Given the description of an element on the screen output the (x, y) to click on. 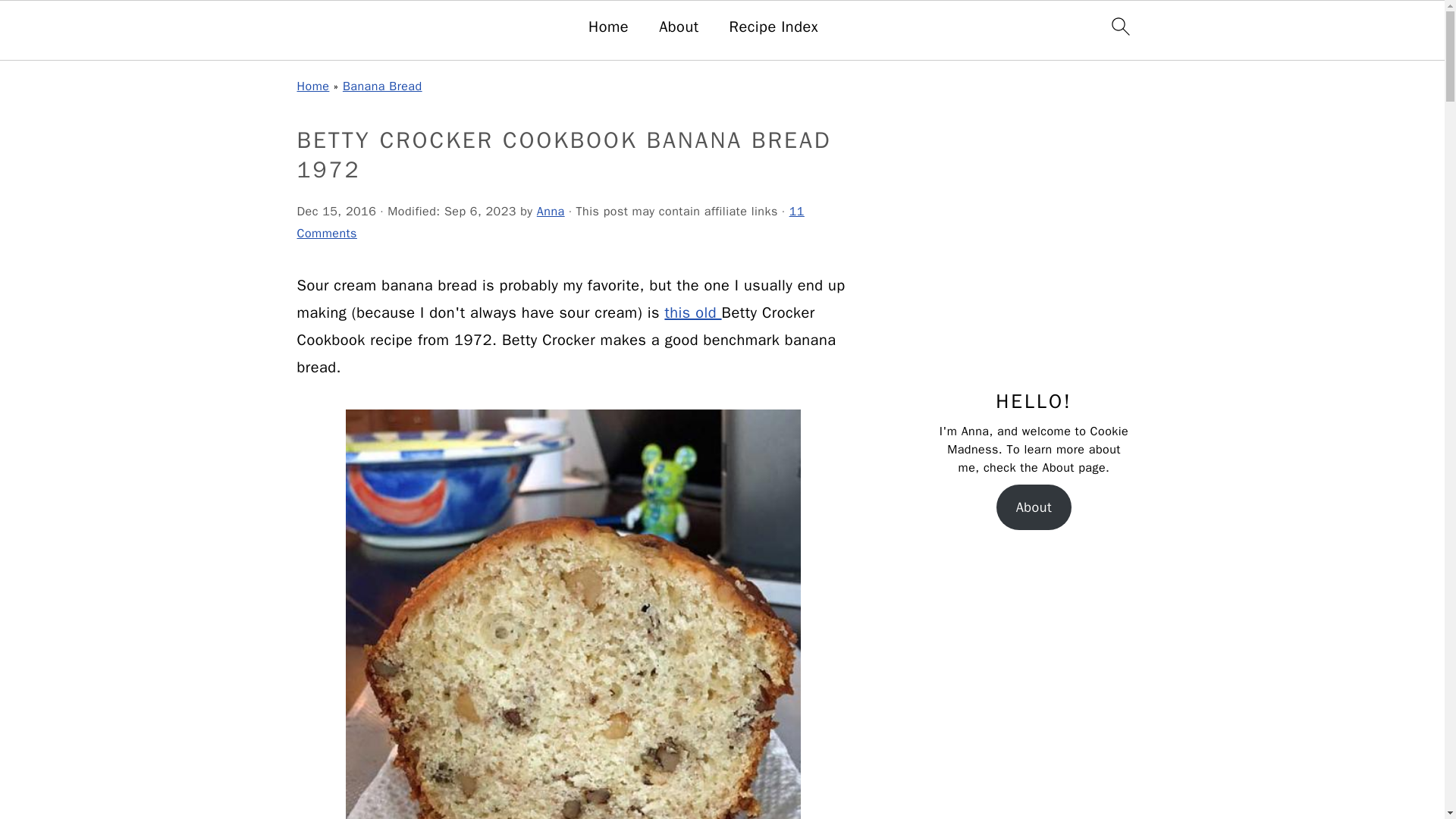
About (678, 27)
Banana Bread (382, 86)
Home (608, 27)
Anna (550, 211)
this old (691, 312)
About (1033, 506)
search icon (1119, 26)
Home (313, 86)
Recipe Index (773, 27)
11 Comments (551, 221)
